Given the description of an element on the screen output the (x, y) to click on. 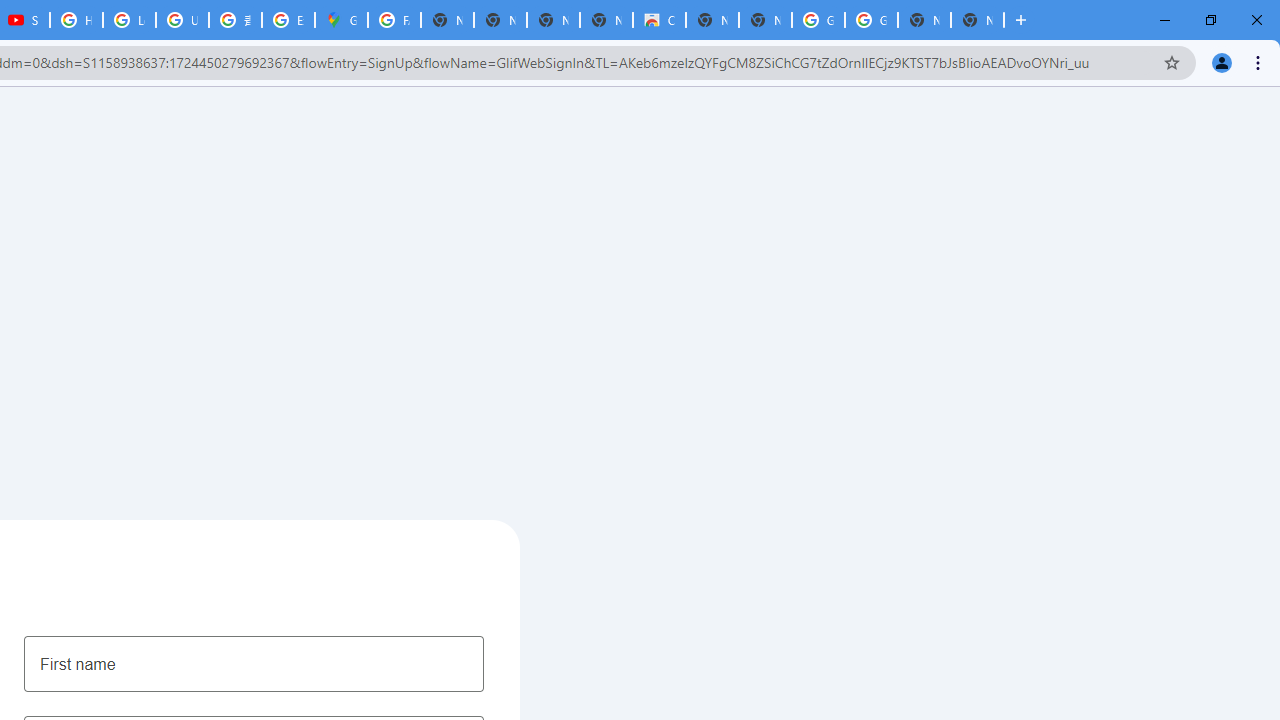
How Chrome protects your passwords - Google Chrome Help (76, 20)
New Tab (977, 20)
Chrome Web Store (659, 20)
Google Images (871, 20)
